Given the description of an element on the screen output the (x, y) to click on. 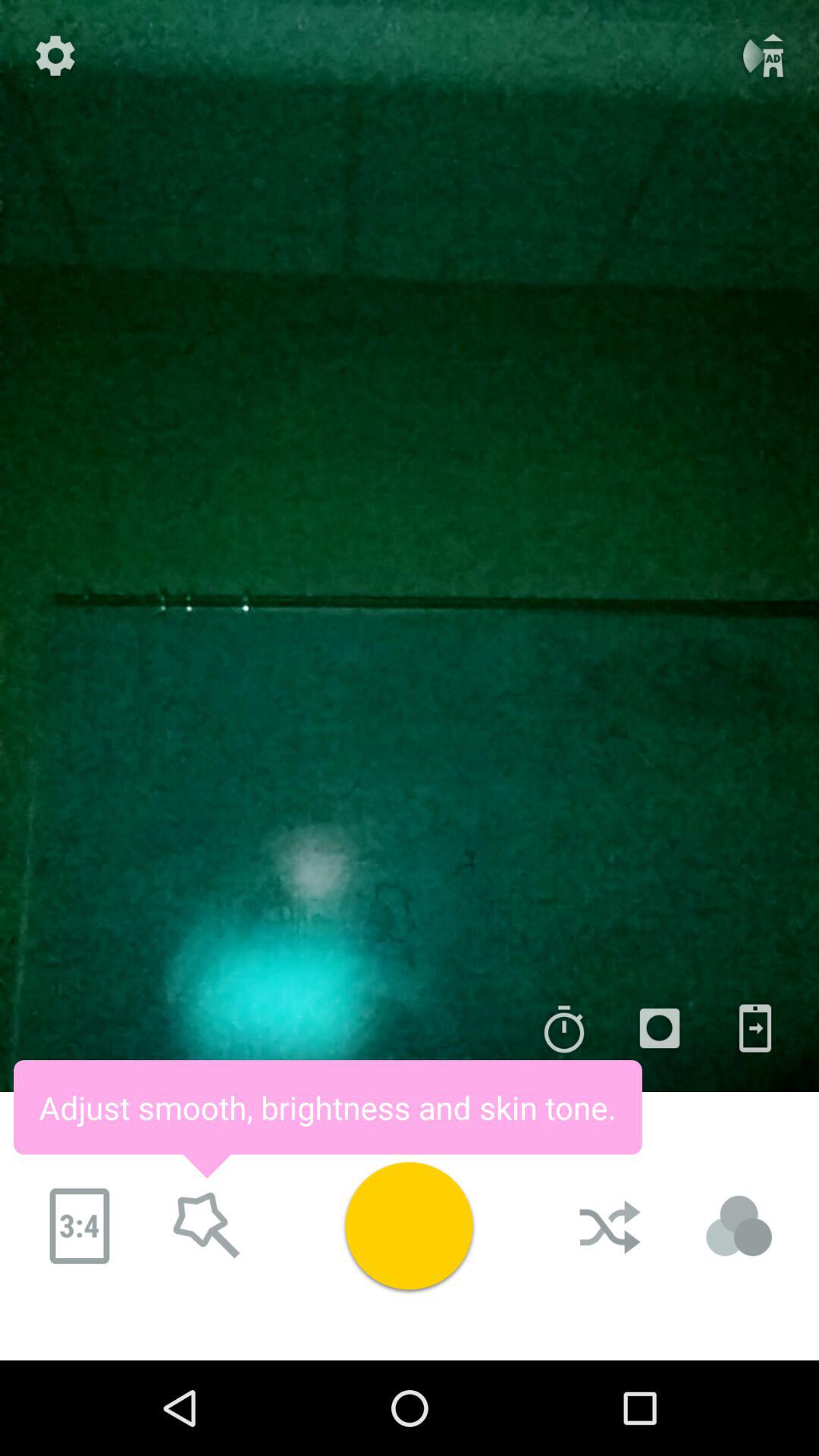
apps (755, 1028)
